Given the description of an element on the screen output the (x, y) to click on. 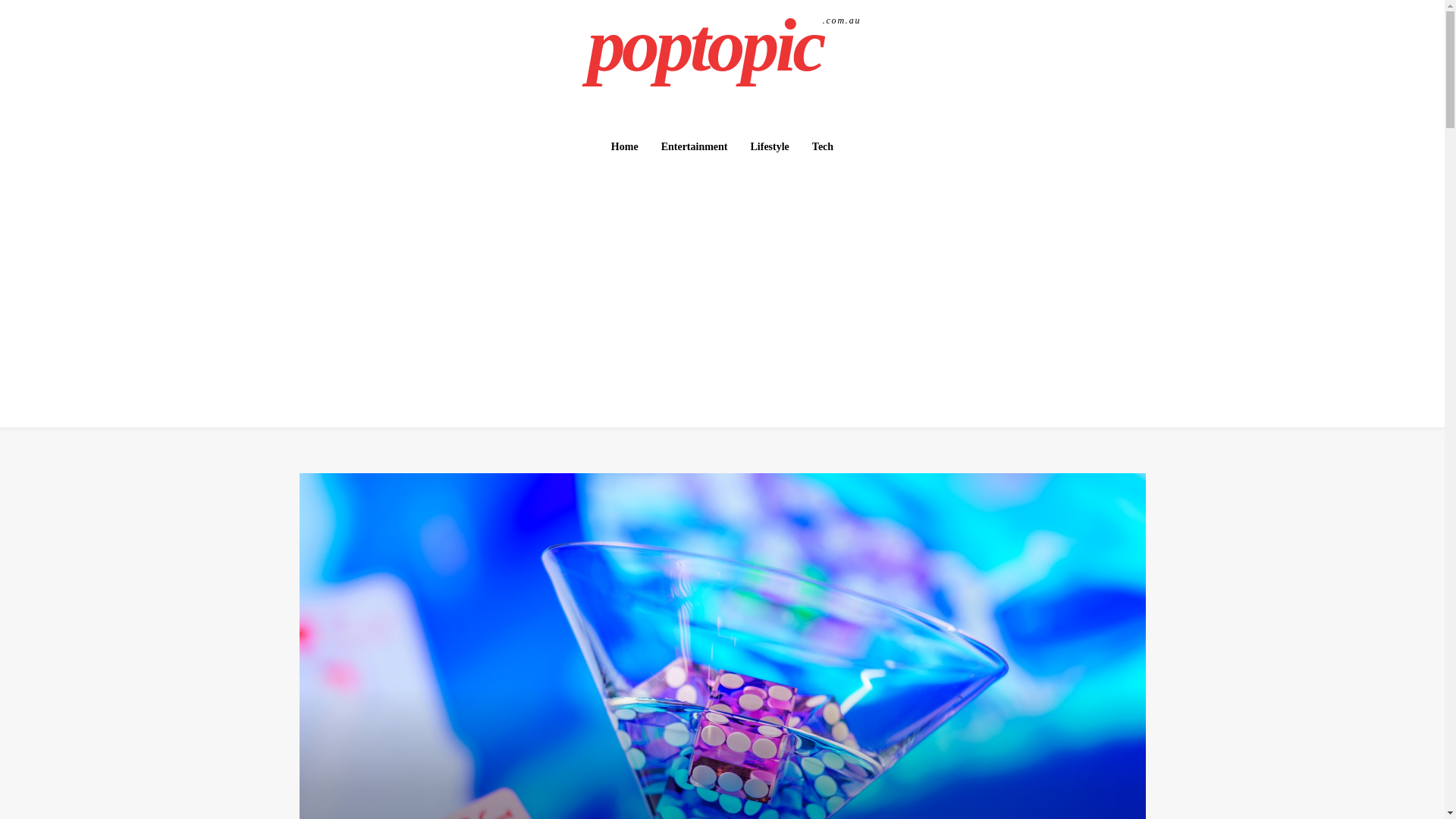
Lifestyle (769, 146)
Home (625, 146)
Tech (823, 146)
POPTOPIC (724, 45)
Entertainment (724, 45)
